Given the description of an element on the screen output the (x, y) to click on. 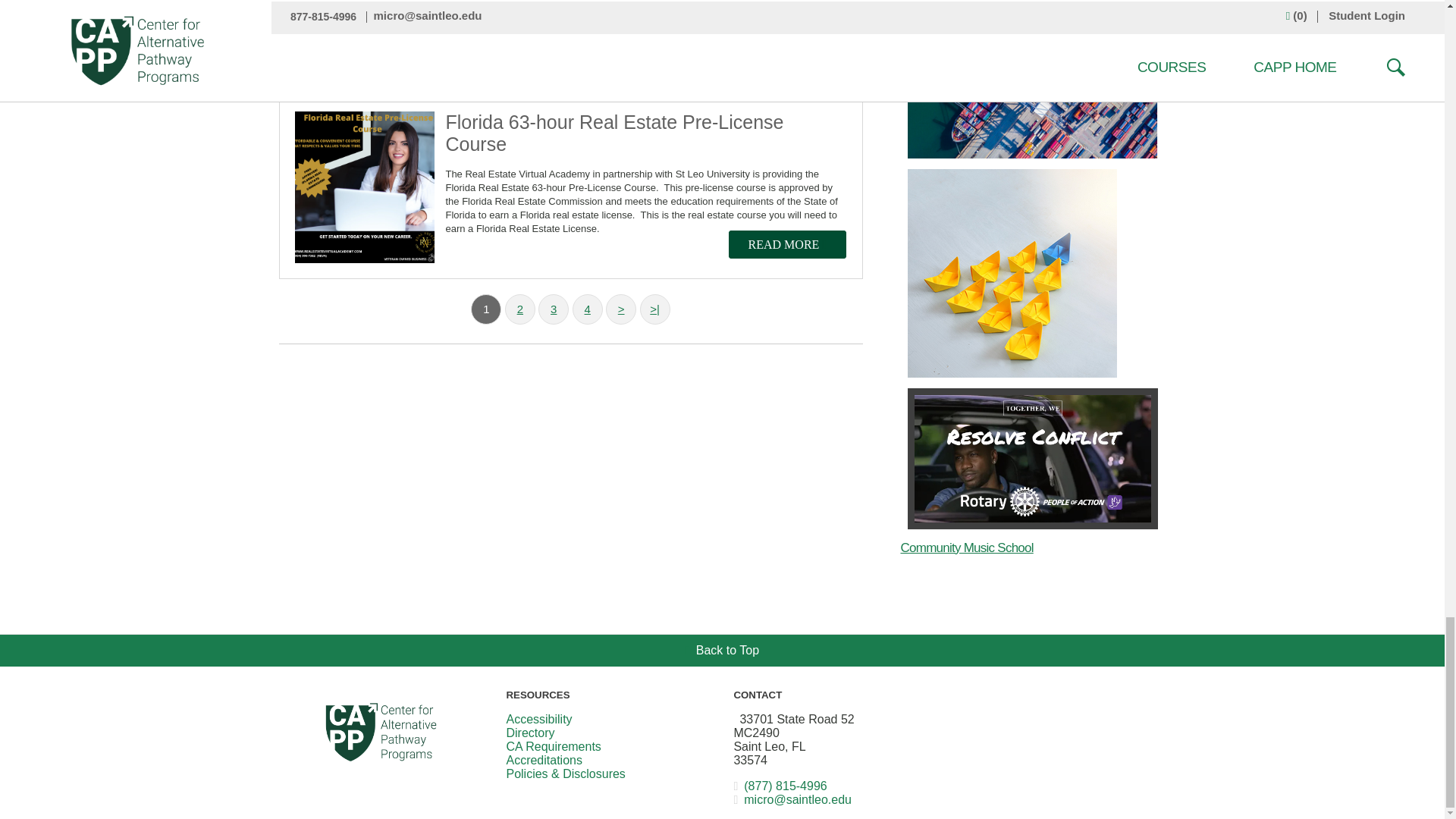
CybersecurityBootcampbanner (645, 24)
Home (381, 731)
Go to top (721, 649)
